Given the description of an element on the screen output the (x, y) to click on. 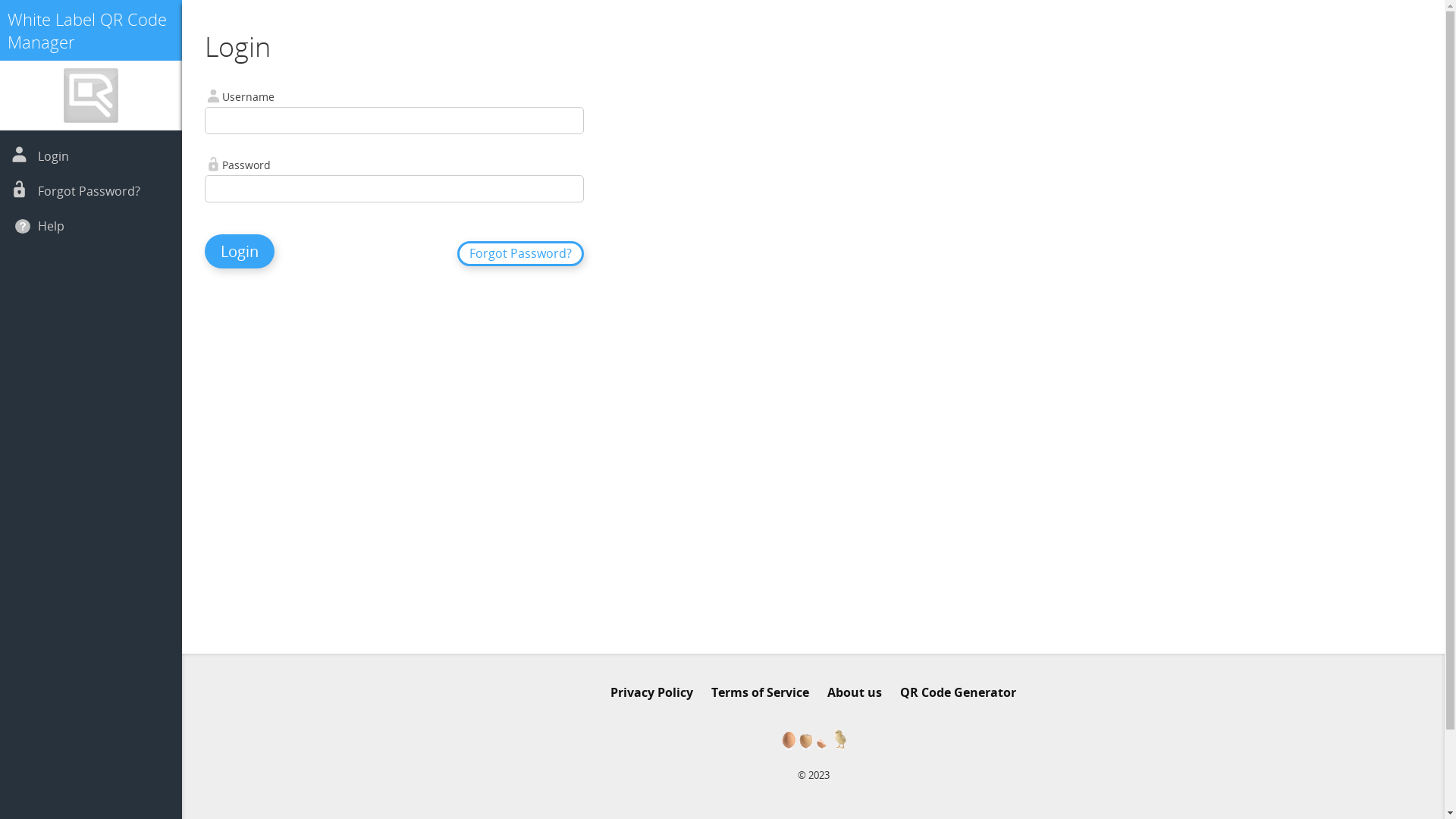
Forgot Password? Element type: text (520, 253)
Help Element type: text (51, 225)
Forgot Password? Element type: text (88, 190)
Login Element type: text (53, 156)
White Label QR Code Manager Element type: text (86, 30)
About us Element type: text (854, 692)
QR Code Generator Element type: text (958, 692)
Login Element type: text (239, 251)
Terms of Service Element type: text (760, 692)
Privacy Policy Element type: text (651, 692)
